Given the description of an element on the screen output the (x, y) to click on. 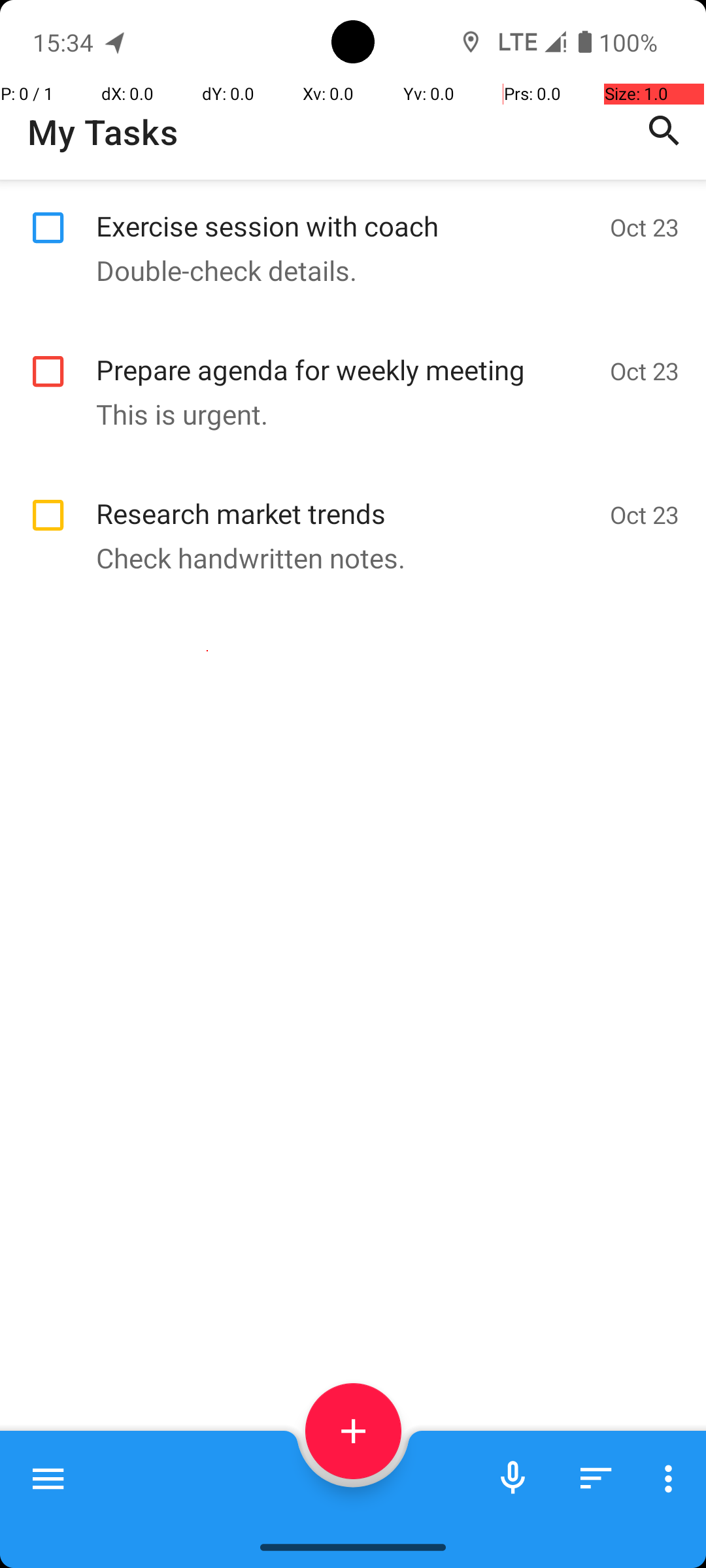
Exercise session with coach Element type: android.widget.TextView (346, 211)
Double-check details. Element type: android.widget.TextView (346, 269)
Oct 23 Element type: android.widget.TextView (644, 226)
Prepare agenda for weekly meeting Element type: android.widget.TextView (346, 355)
This is urgent. Element type: android.widget.TextView (346, 413)
Research market trends Element type: android.widget.TextView (346, 499)
Check handwritten notes. Element type: android.widget.TextView (346, 557)
